Given the description of an element on the screen output the (x, y) to click on. 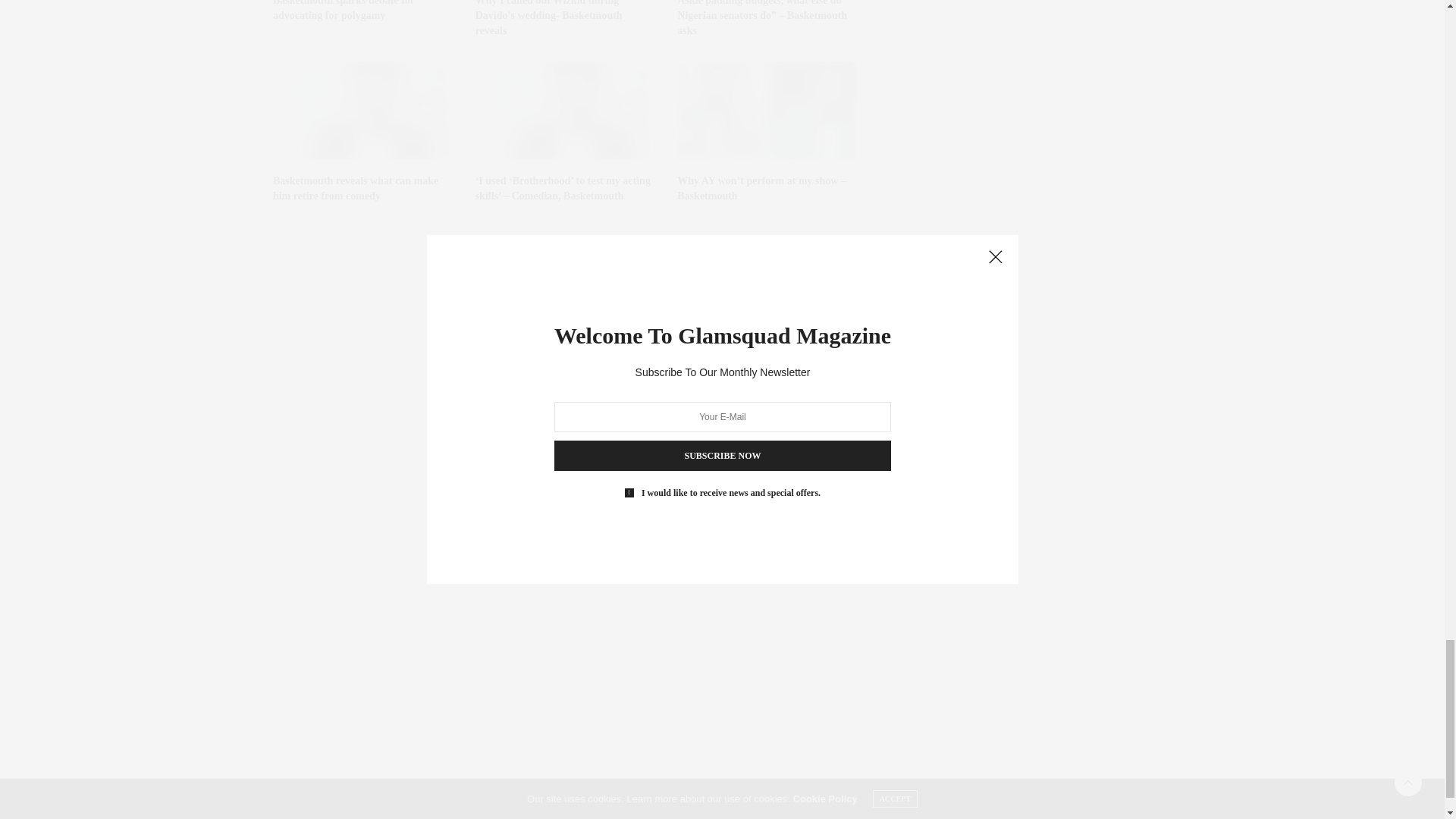
Basketmouth sparks debate for advocating for polygamy (343, 10)
